Given the description of an element on the screen output the (x, y) to click on. 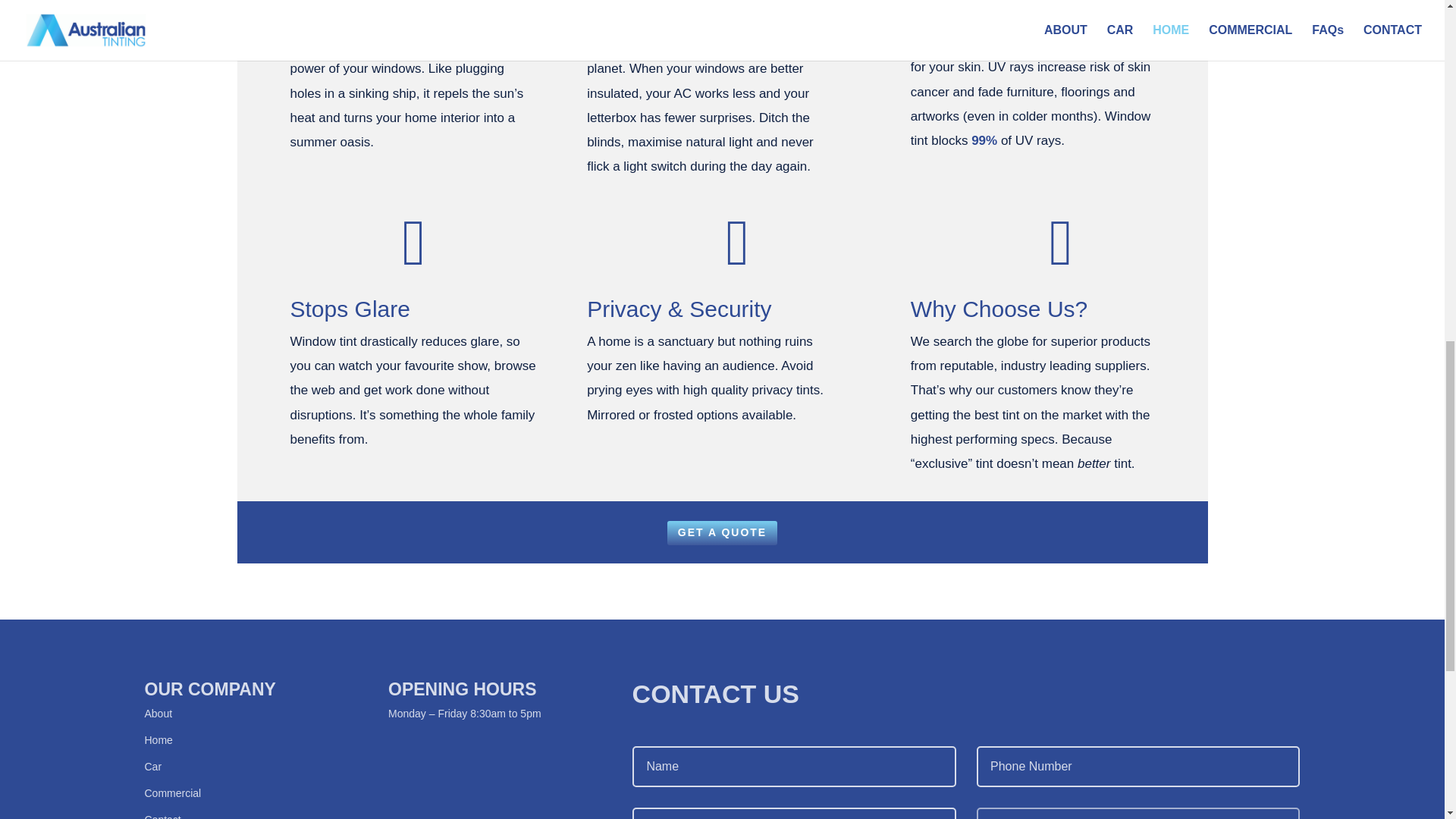
Commercial (172, 793)
Contact (162, 816)
Home (157, 739)
GET A QUOTE (721, 532)
Car  (153, 766)
About (157, 713)
